Given the description of an element on the screen output the (x, y) to click on. 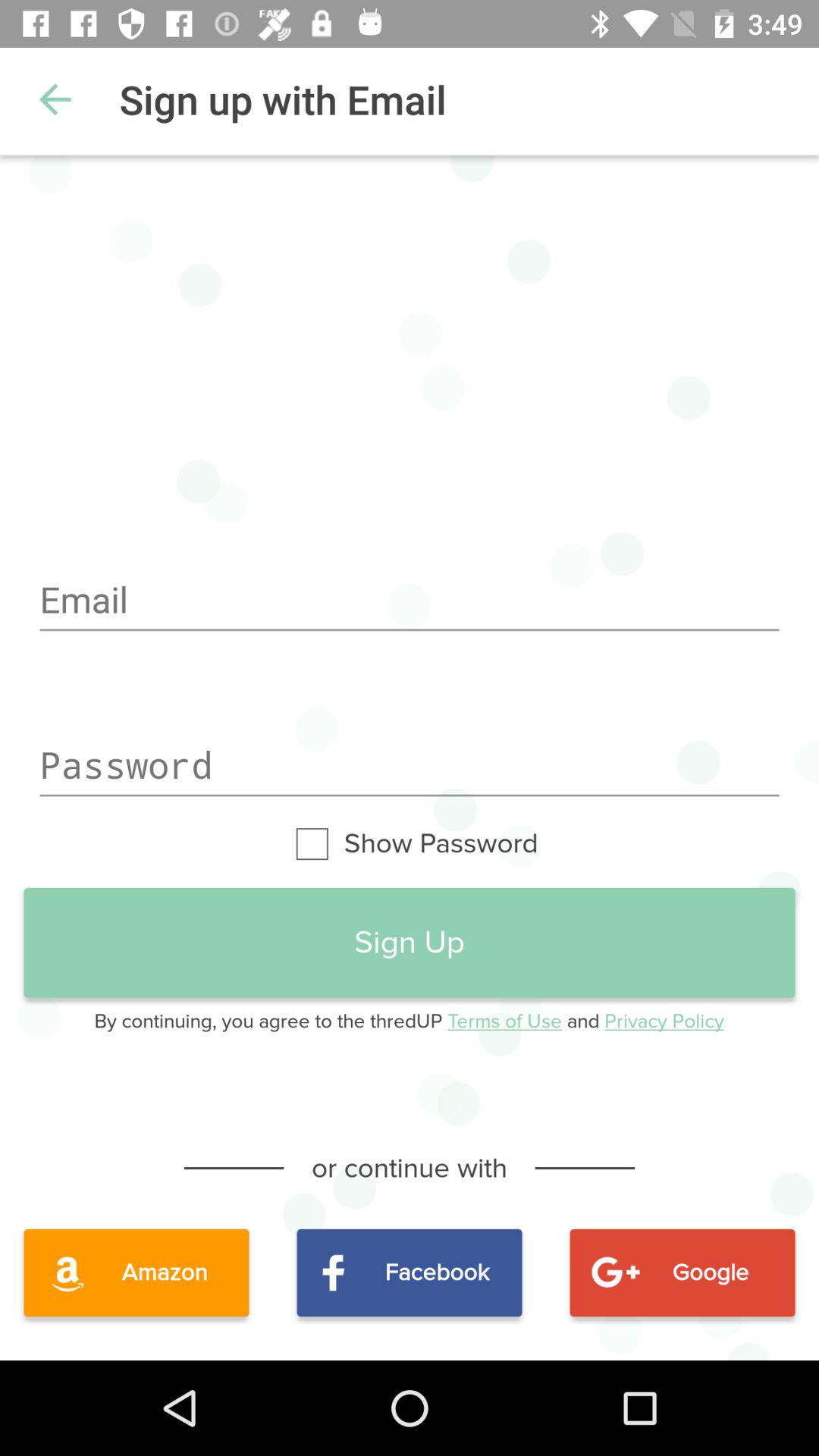
click on text below sign up (409, 1021)
